Given the description of an element on the screen output the (x, y) to click on. 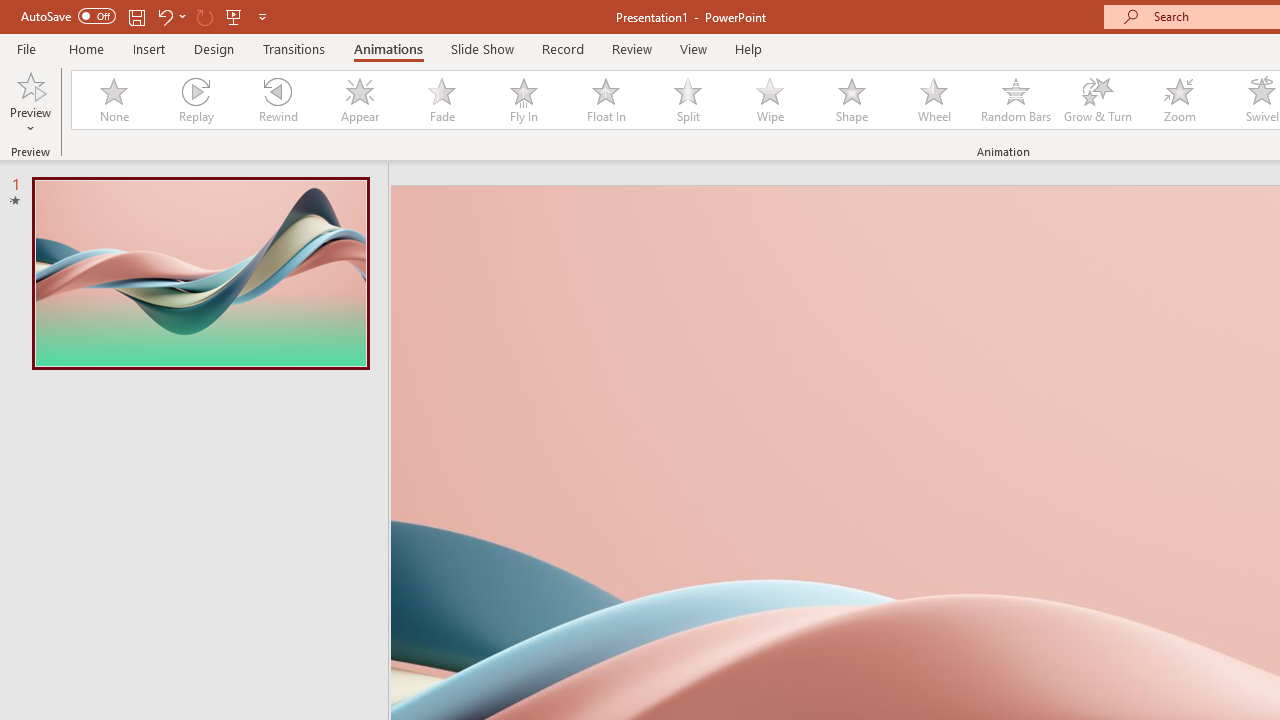
View (693, 48)
System (10, 11)
Grow & Turn (1098, 100)
Random Bars (1016, 100)
Zoom (1180, 100)
Help (748, 48)
Slide (200, 272)
Transitions (294, 48)
Insert (149, 48)
Appear (359, 100)
Rewind (277, 100)
File Tab (26, 48)
Wheel (934, 100)
AutoSave (68, 16)
